Given the description of an element on the screen output the (x, y) to click on. 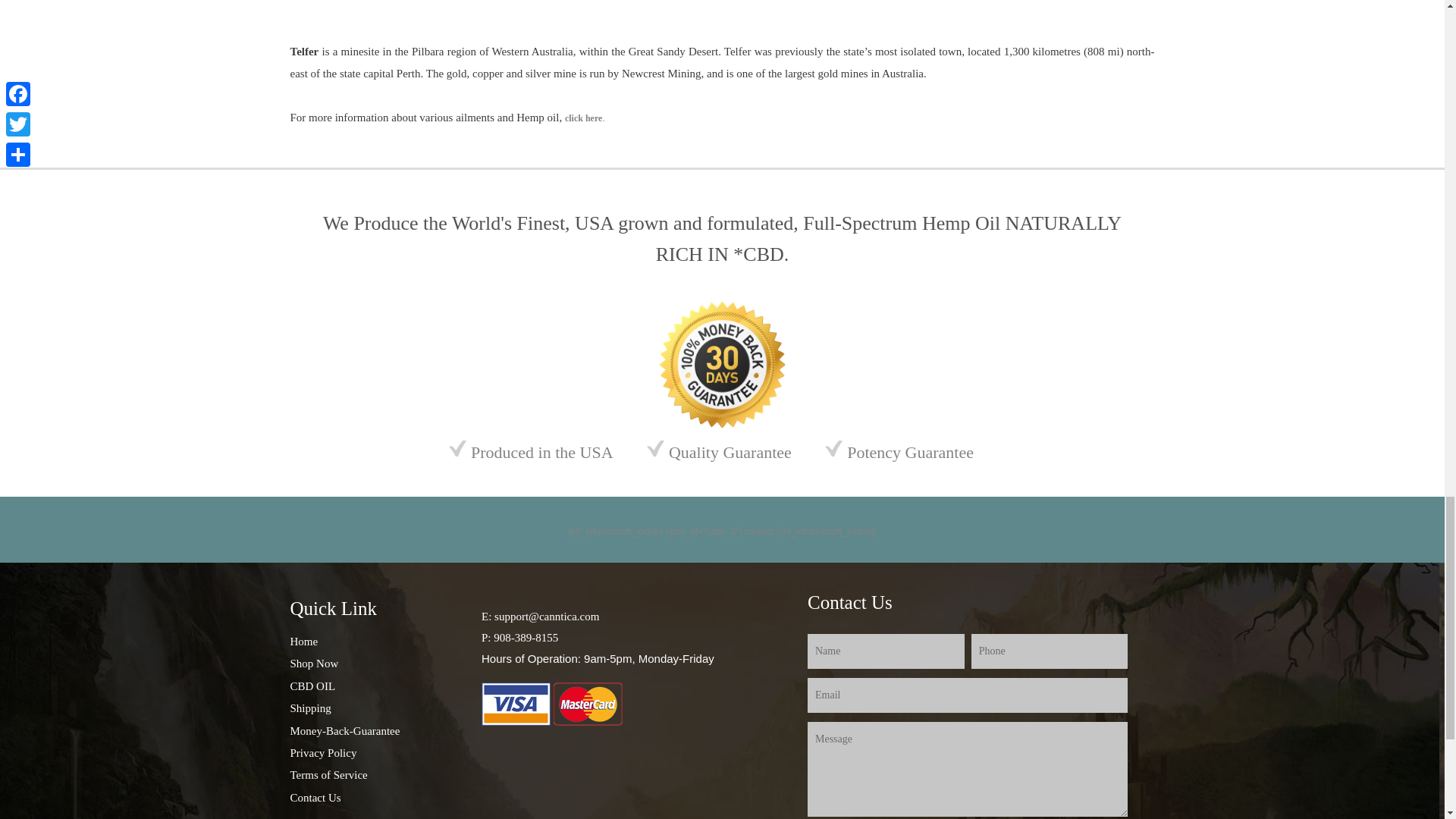
click here. (584, 118)
